Given the description of an element on the screen output the (x, y) to click on. 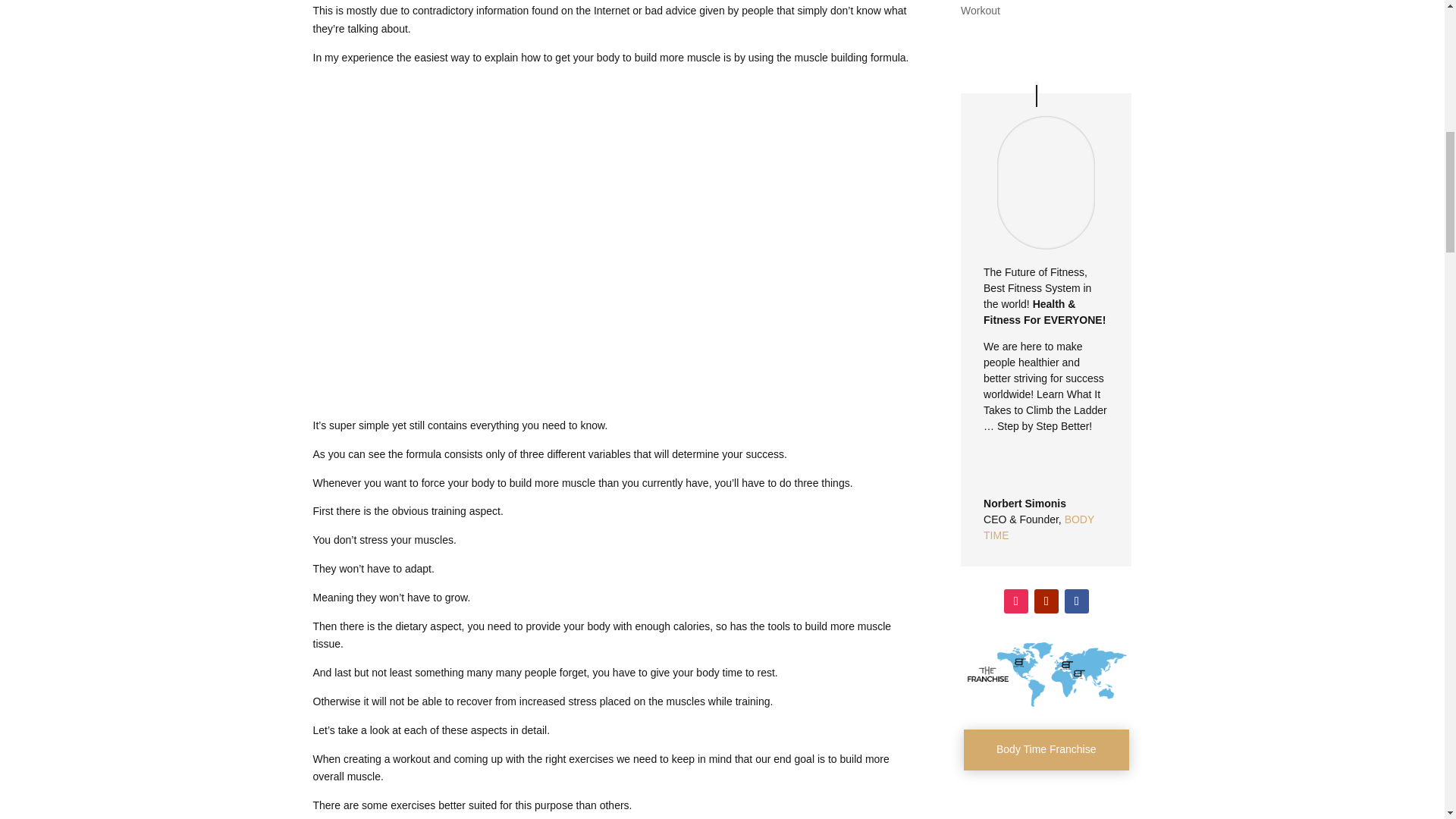
Follow on Youtube (1045, 600)
Follow on Instagram (1015, 600)
Follow on Facebook (1076, 600)
THE FRANCHISE (1045, 674)
